Given the description of an element on the screen output the (x, y) to click on. 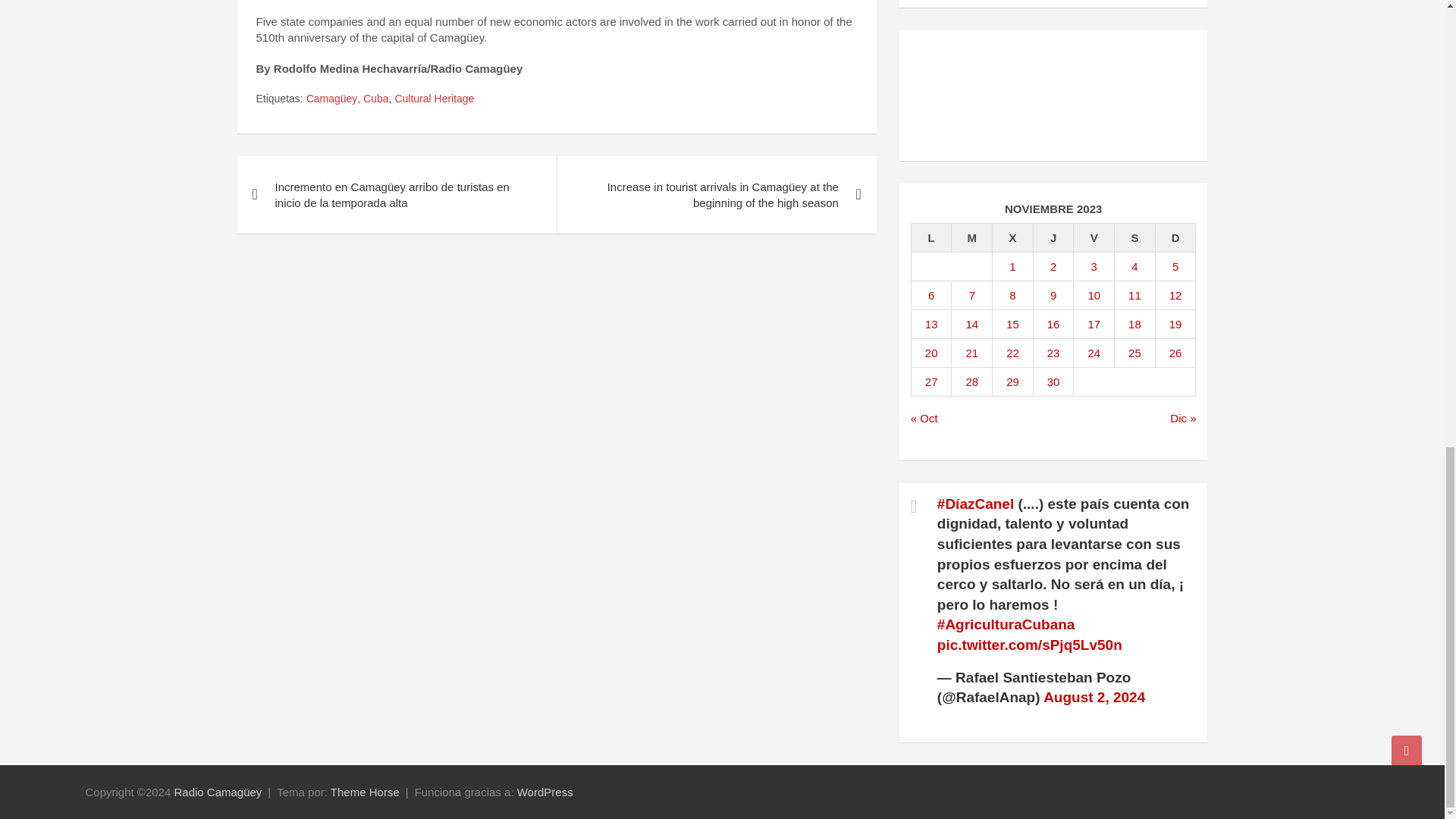
WordPress (544, 791)
martes (972, 236)
Cultural Heritage (434, 99)
Theme Horse (364, 791)
jueves (1053, 236)
domingo (1174, 236)
lunes (931, 236)
Cuba (375, 99)
viernes (1094, 236)
